Given the description of an element on the screen output the (x, y) to click on. 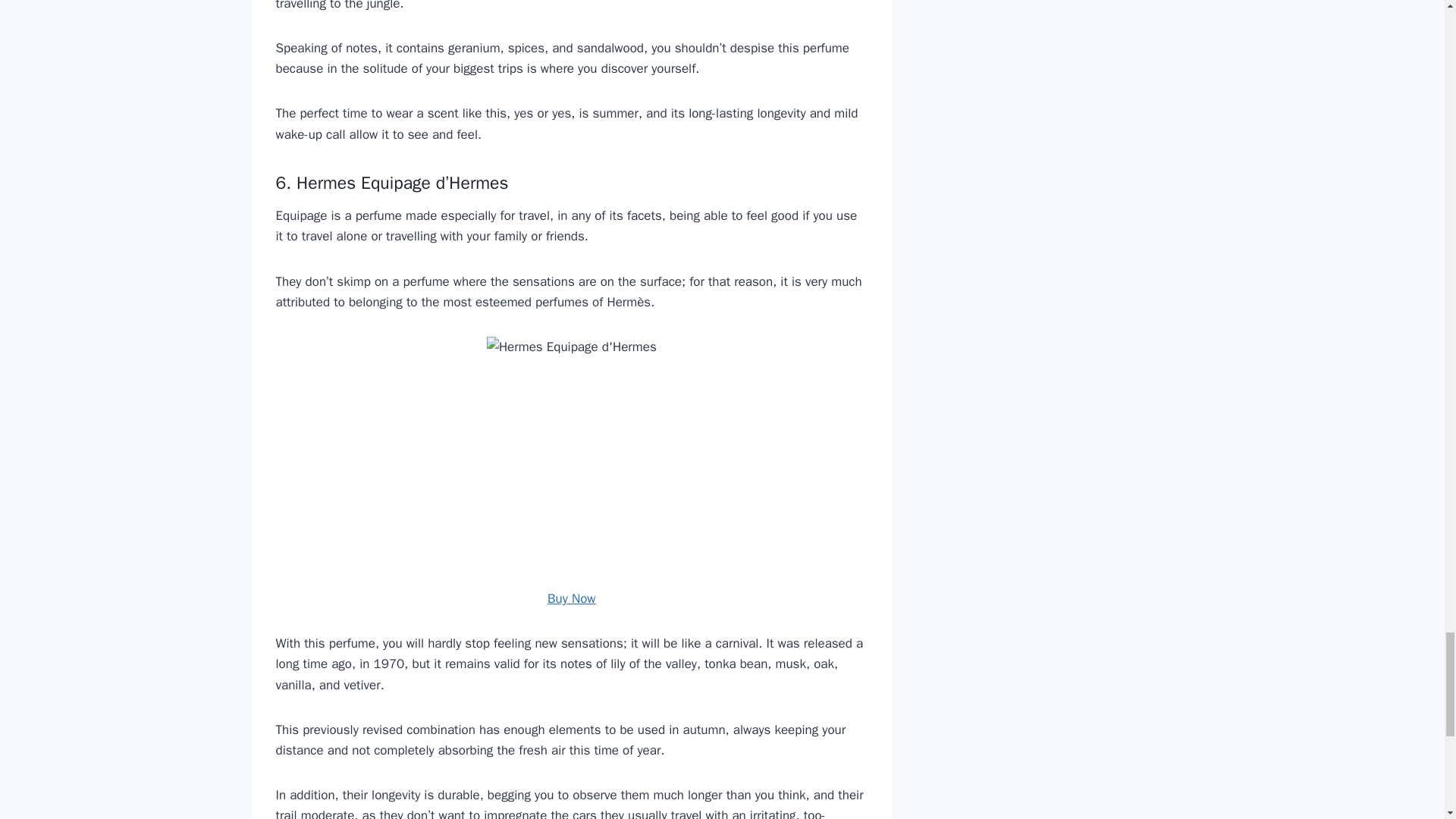
Buy Now (571, 598)
